Given the description of an element on the screen output the (x, y) to click on. 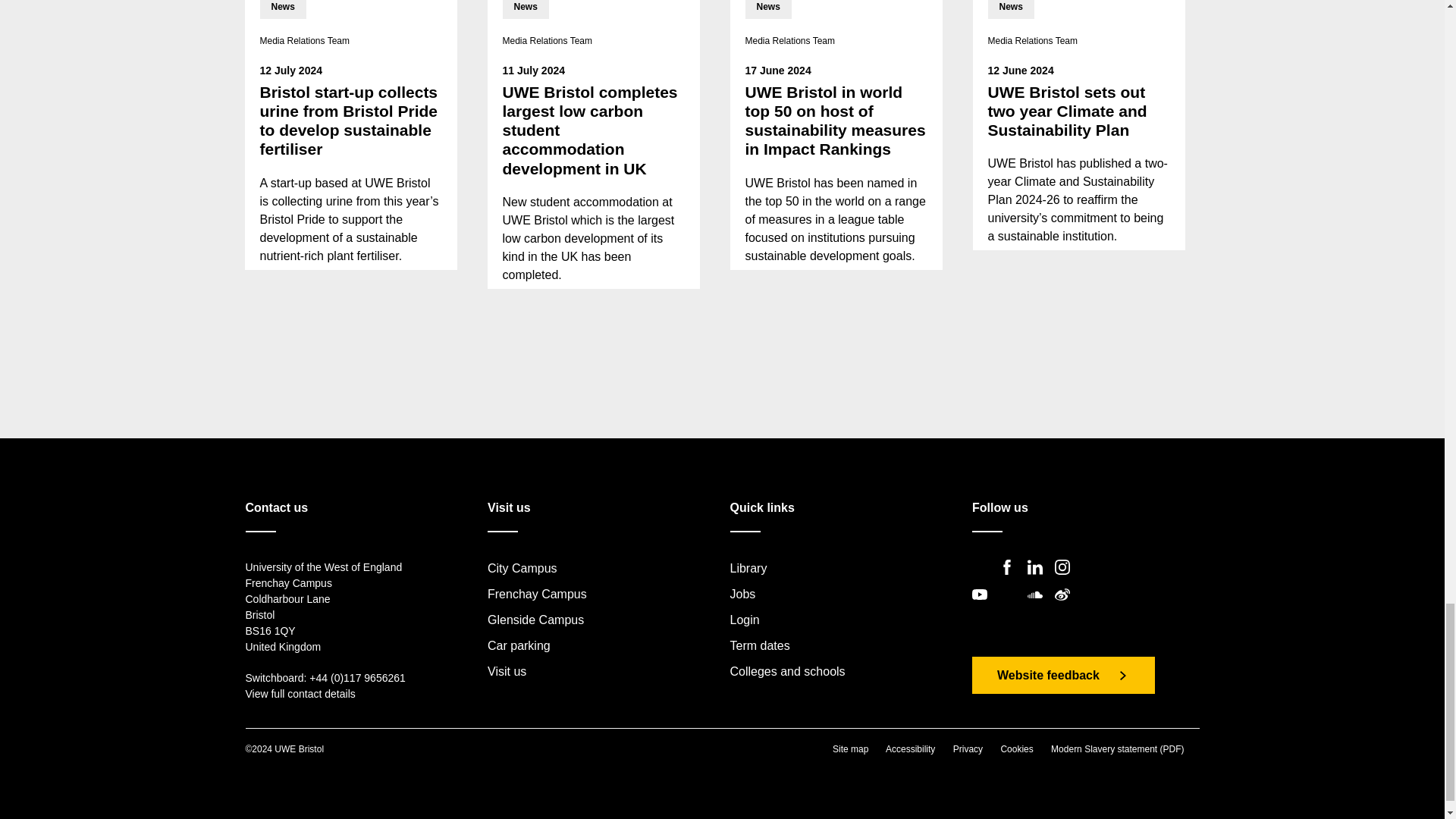
Weibo (1066, 606)
Twitter (983, 579)
TikTok (1010, 606)
Instagram (1066, 579)
Facebook (1010, 579)
LinkedIn (1039, 579)
YouTube (983, 606)
SoundCloud (1039, 606)
